Given the description of an element on the screen output the (x, y) to click on. 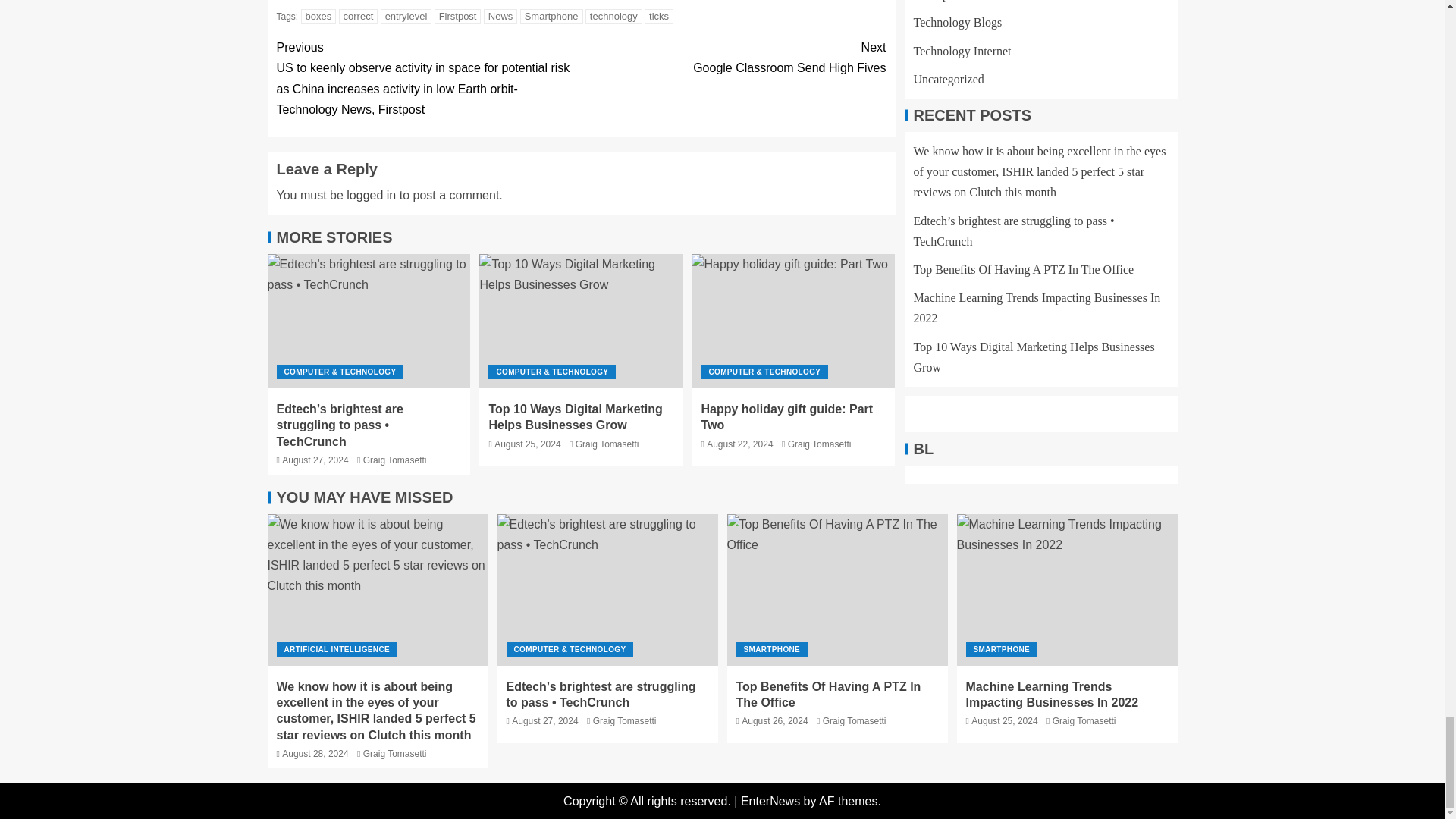
Graig Tomasetti (394, 460)
Top 10 Ways Digital Marketing Helps Businesses Grow (580, 320)
correct (358, 16)
boxes (732, 56)
Firstpost (318, 16)
ticks (457, 16)
entrylevel (658, 16)
